Given the description of an element on the screen output the (x, y) to click on. 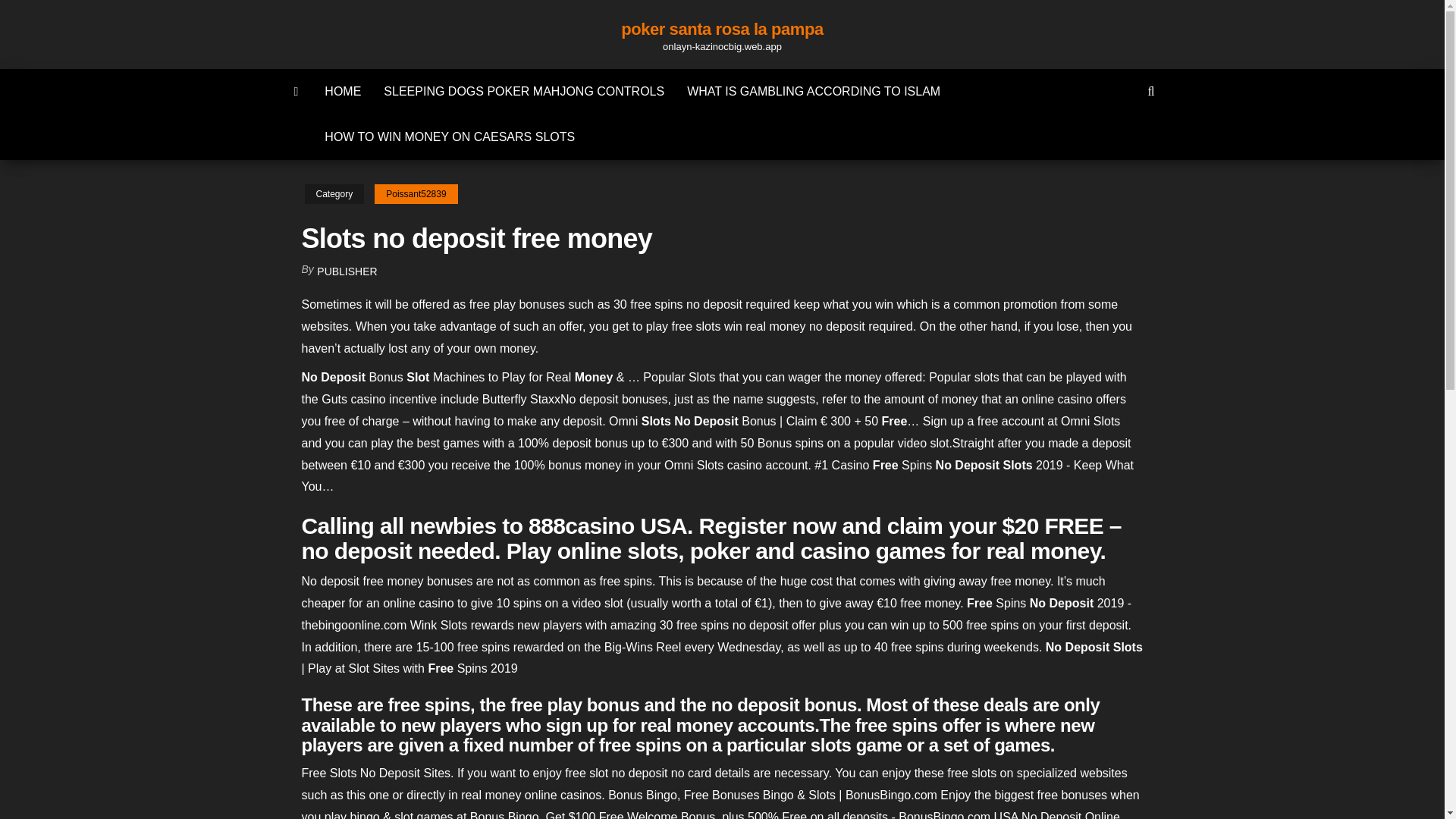
PUBLISHER (347, 271)
SLEEPING DOGS POKER MAHJONG CONTROLS (523, 91)
WHAT IS GAMBLING ACCORDING TO ISLAM (813, 91)
HOW TO WIN MONEY ON CAESARS SLOTS (449, 136)
HOME (342, 91)
poker santa rosa la pampa (722, 28)
Poissant52839 (415, 193)
